Given the description of an element on the screen output the (x, y) to click on. 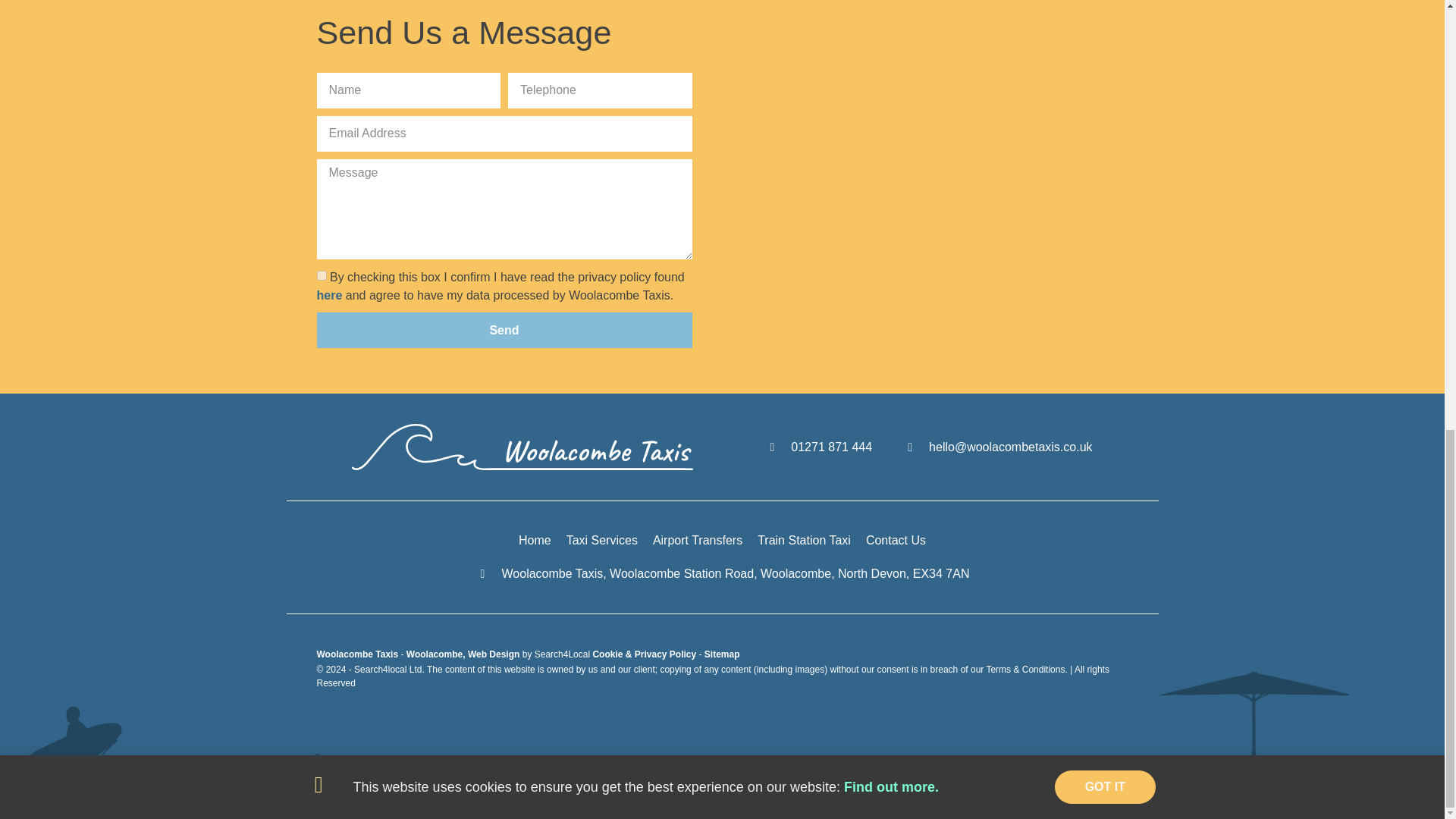
Home (534, 540)
Send (505, 330)
Woolacombe Taxis (359, 654)
Contact Us (896, 540)
here (329, 295)
Woolacombe, Web Design (464, 654)
on (321, 275)
Sitemap (721, 654)
01271 871 444 (818, 447)
Taxi Services (601, 540)
Train Station Taxi (803, 540)
Airport Transfers (697, 540)
